Given the description of an element on the screen output the (x, y) to click on. 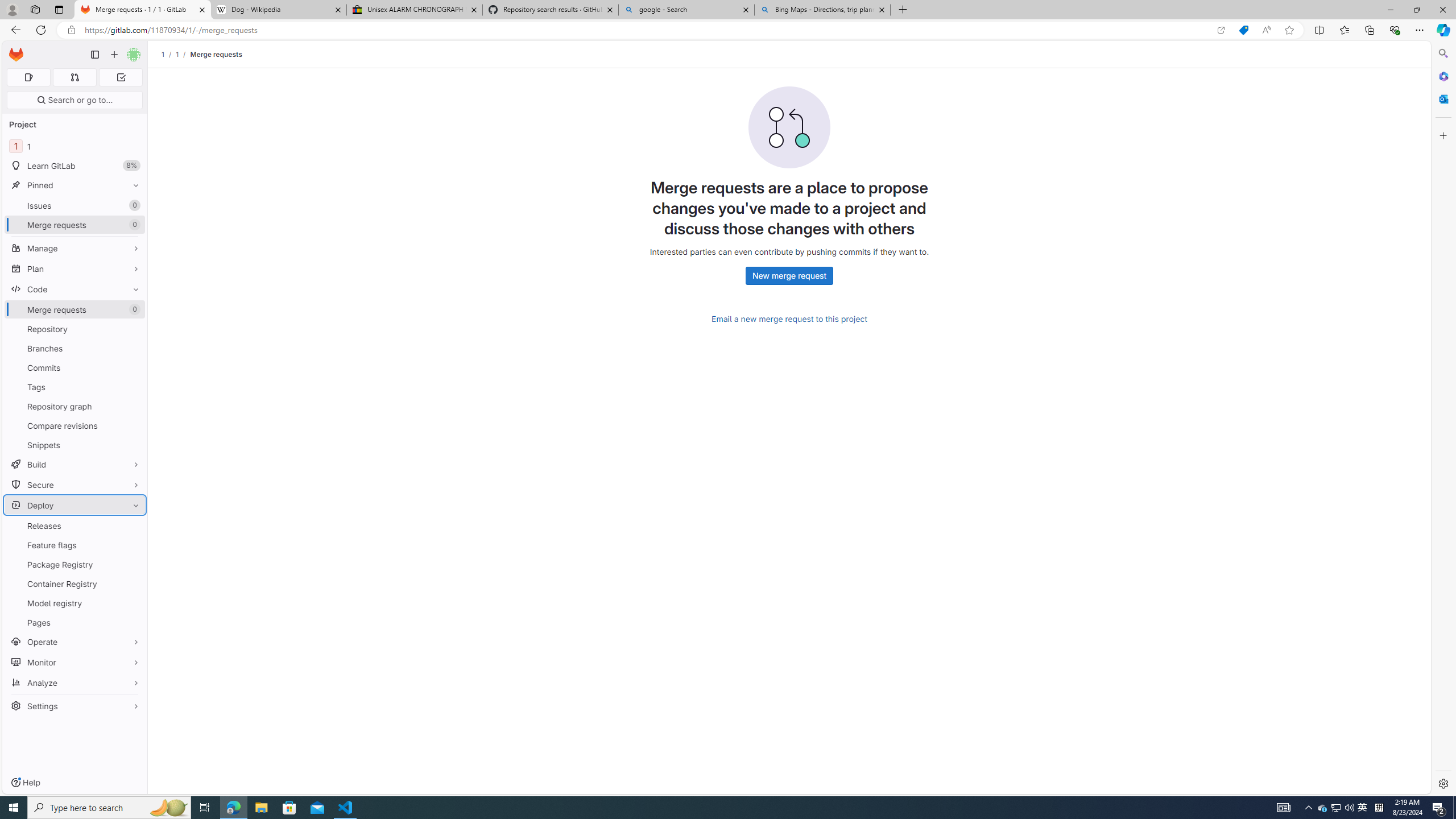
Pin Model registry (132, 603)
Open in app (1220, 29)
Learn GitLab 8% (74, 165)
Compare revisions (74, 425)
Dog - Wikipedia (277, 9)
Merge requests 0 (74, 309)
1 1 (74, 145)
Assigned issues 0 (28, 76)
Merge requests (215, 53)
Merge requests0 (74, 309)
